Given the description of an element on the screen output the (x, y) to click on. 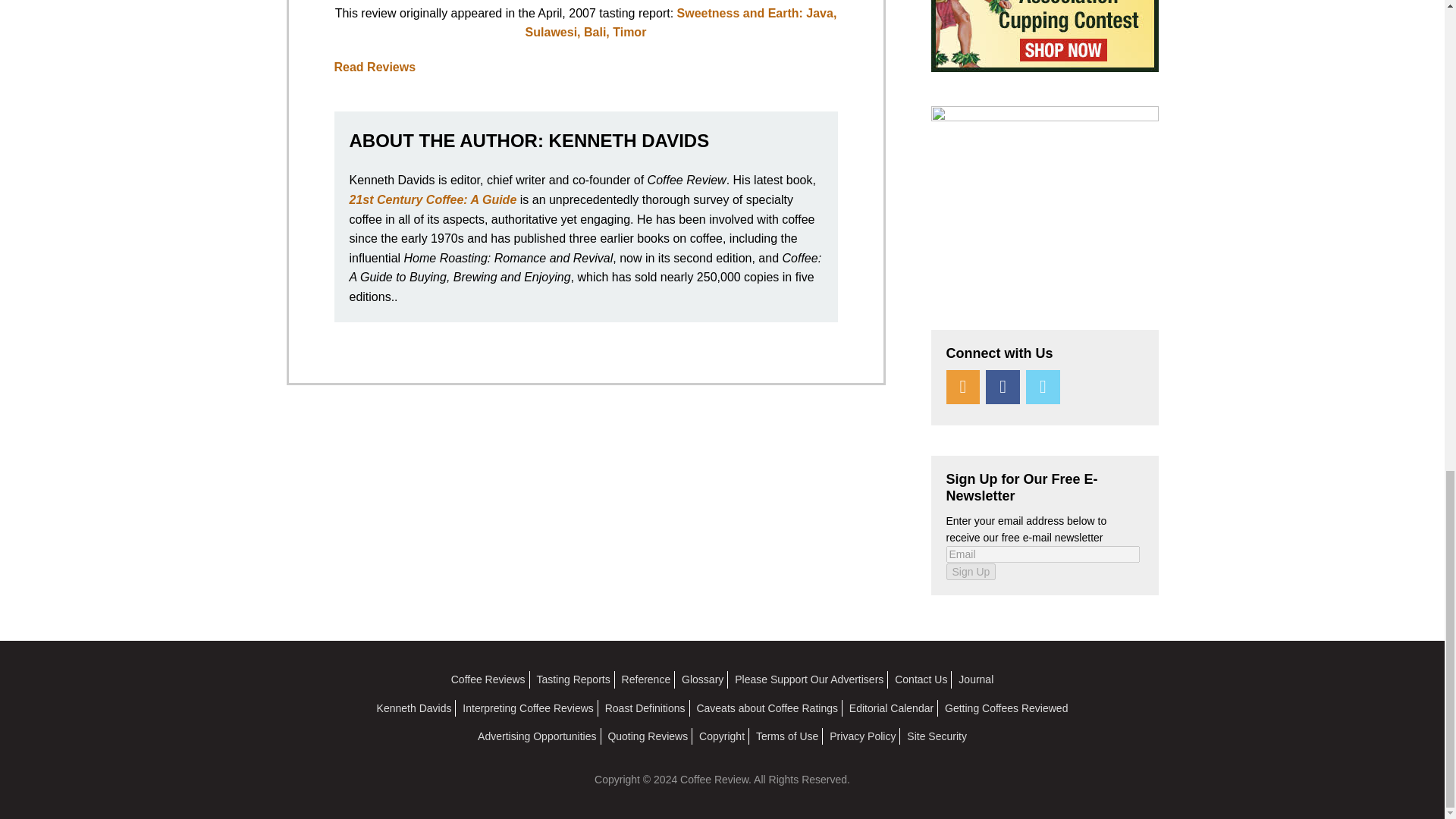
Sign Up (970, 571)
RSS (962, 387)
Facebook (1002, 387)
Twitter (1042, 387)
